Given the description of an element on the screen output the (x, y) to click on. 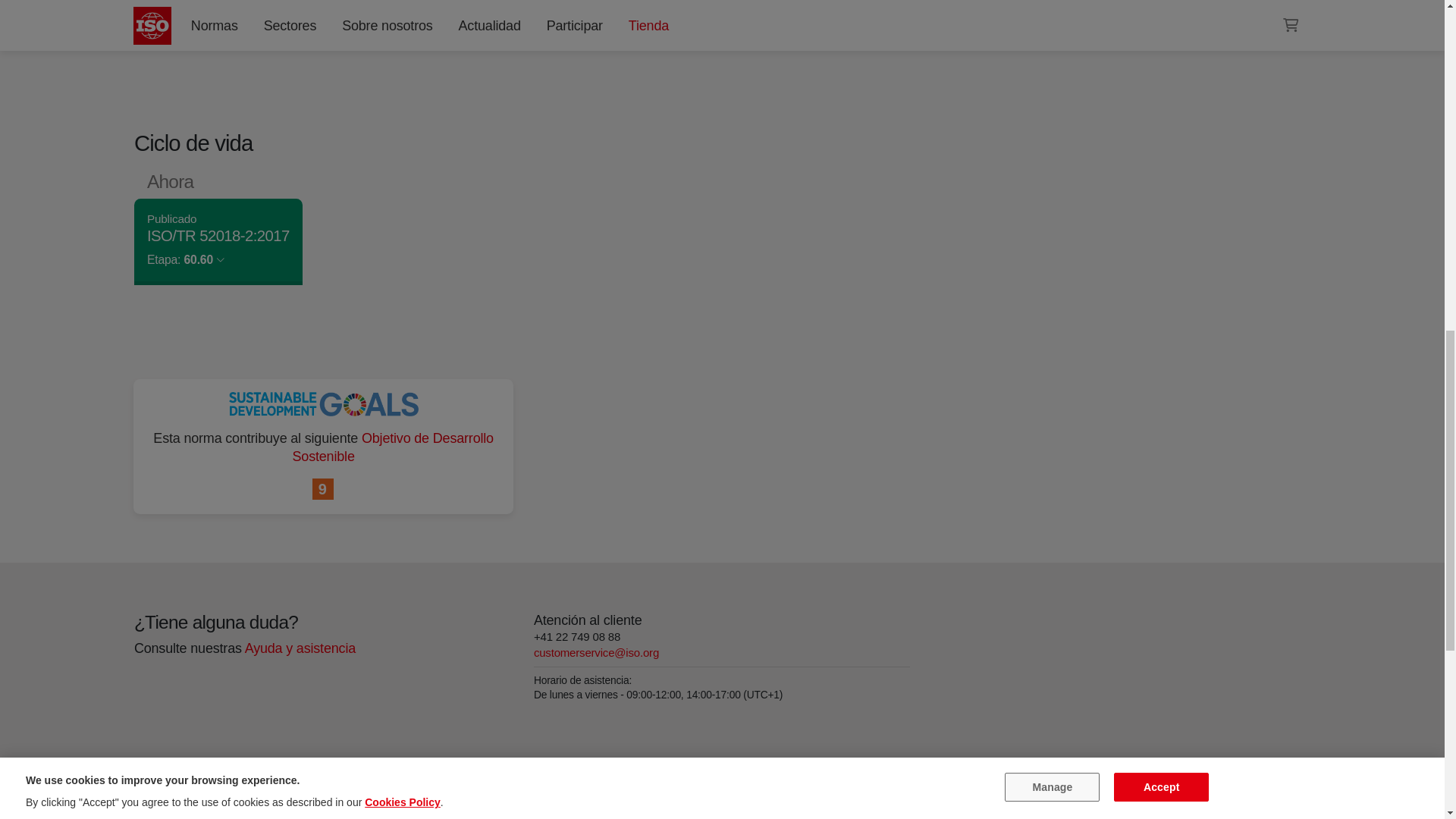
RSS (956, 6)
Etapa: 60.60 (185, 259)
Industry, Innovation and Infrastructure (323, 489)
